Given the description of an element on the screen output the (x, y) to click on. 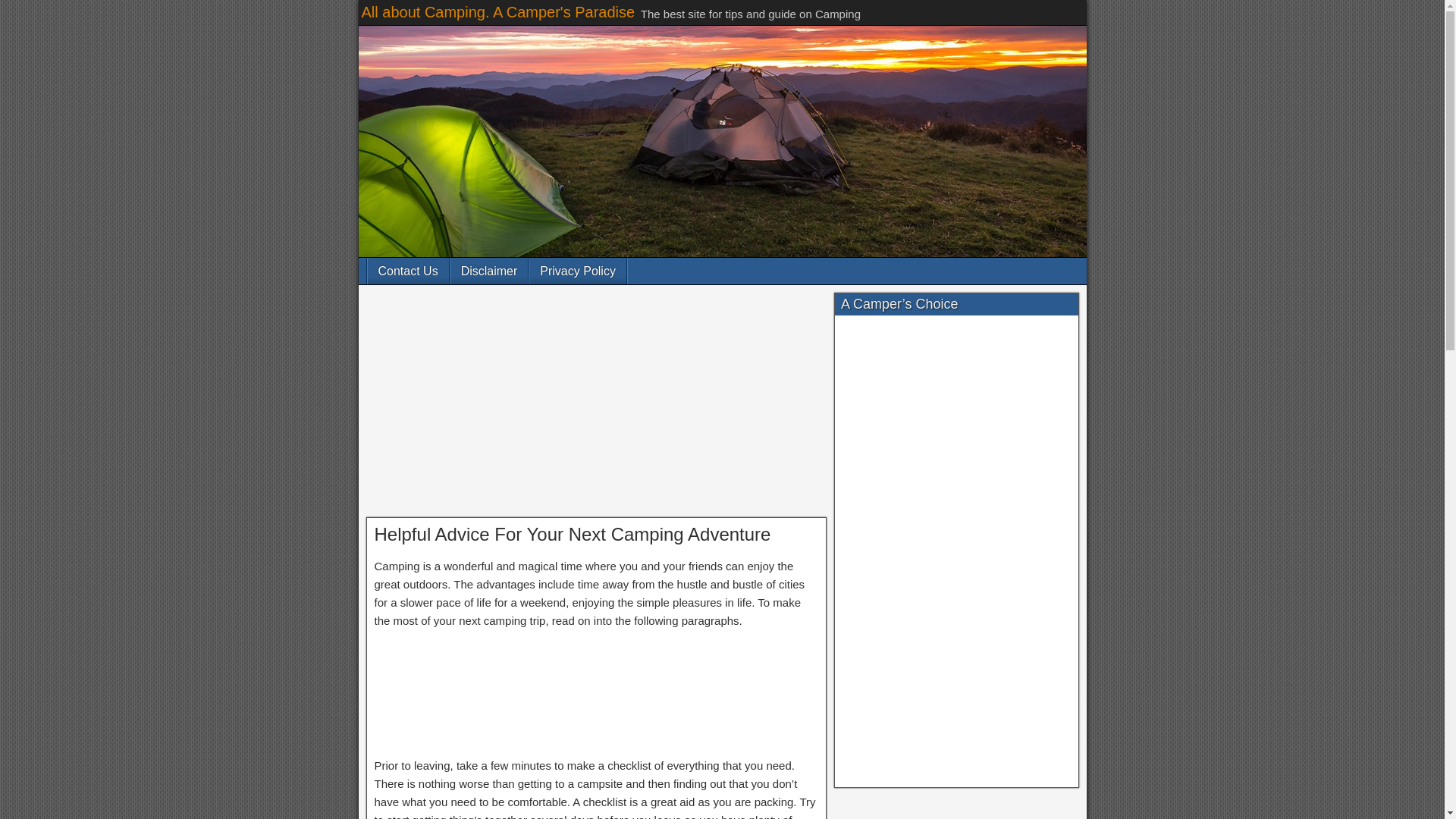
Advertisement (596, 695)
Contact Us (407, 270)
Privacy Policy (577, 270)
Helpful Advice For Your Next Camping Adventure (572, 534)
Disclaimer (488, 270)
Advertisement (596, 404)
All about Camping. A Camper's Paradise (497, 12)
